Given the description of an element on the screen output the (x, y) to click on. 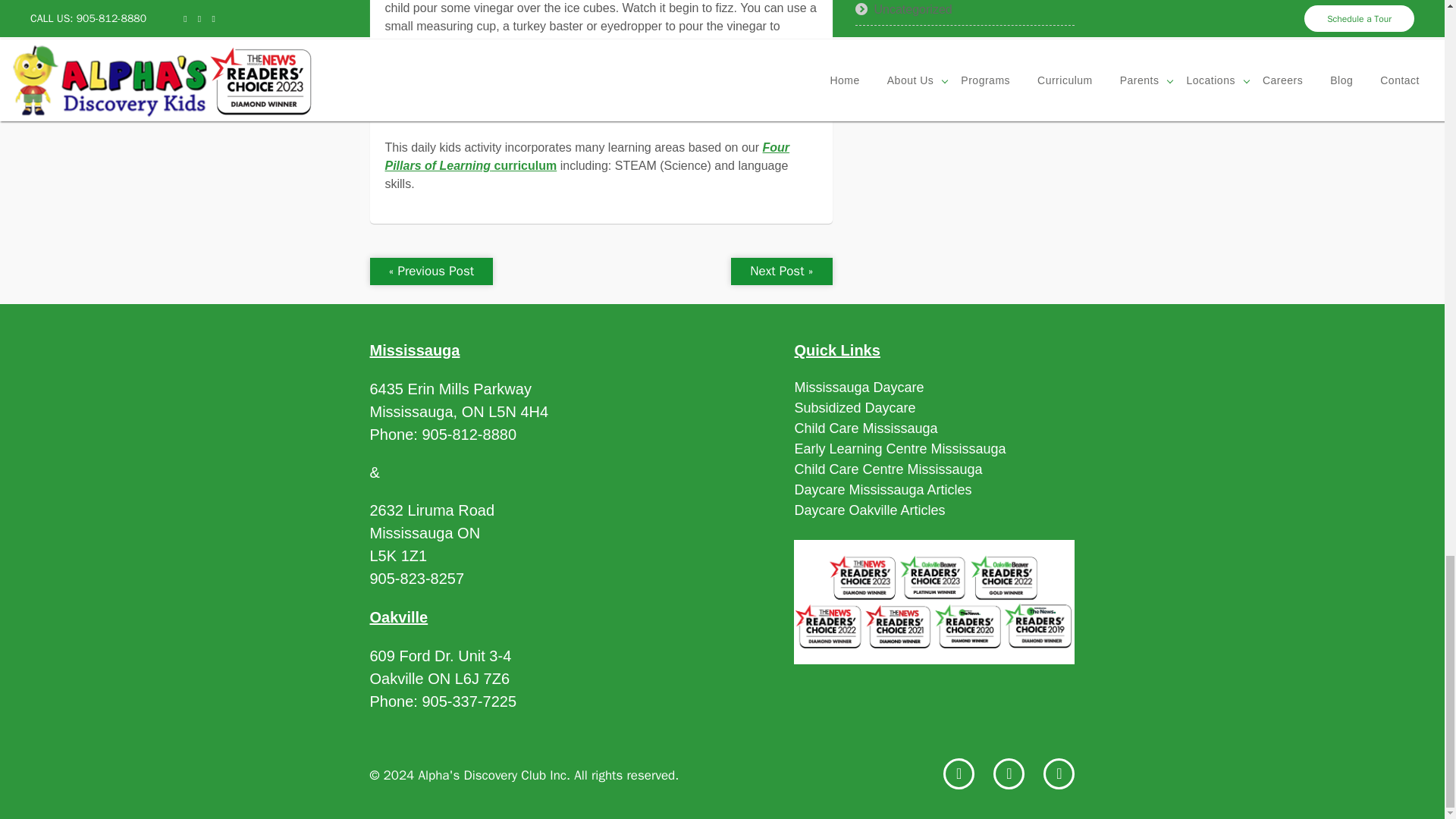
Four Pillars of Learning curriculum (587, 155)
